Given the description of an element on the screen output the (x, y) to click on. 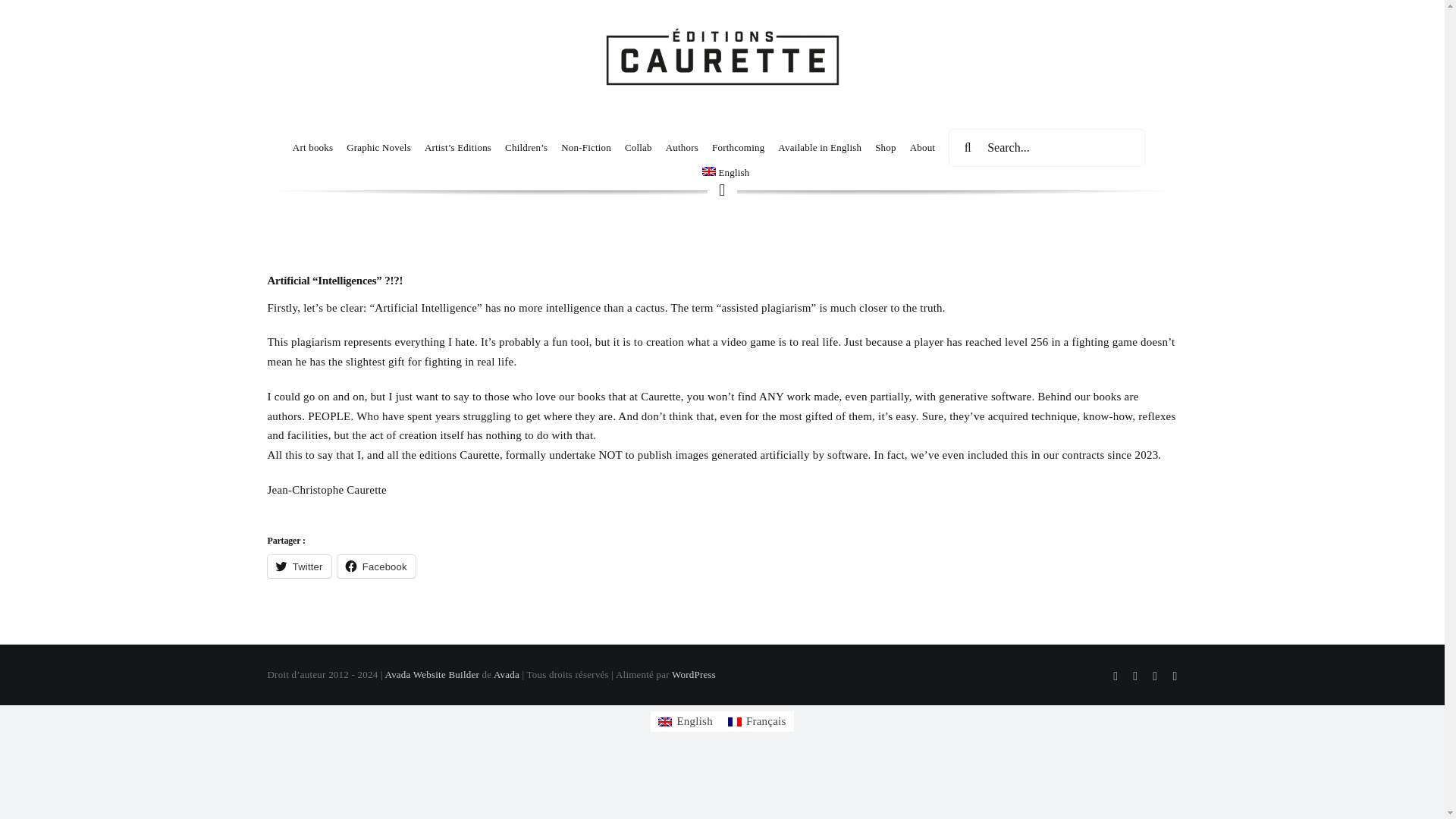
Forthcoming (737, 147)
Available in English (819, 147)
Avada (506, 674)
Facebook (375, 566)
Non-Fiction (585, 147)
Avada Website Builder (432, 674)
English (725, 171)
WordPress (693, 674)
English (725, 171)
English (684, 721)
